Given the description of an element on the screen output the (x, y) to click on. 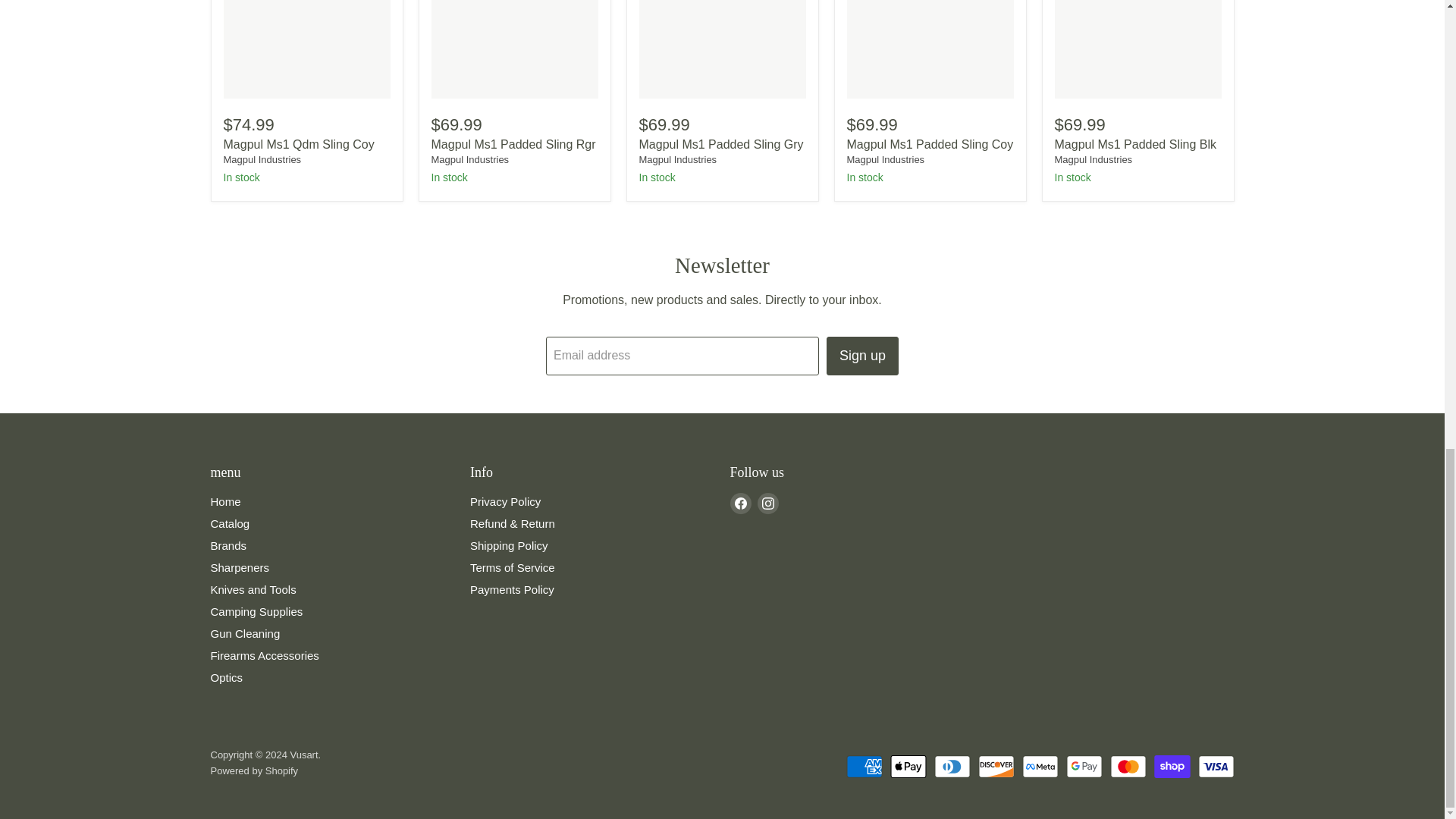
Instagram (767, 503)
Apple Pay (907, 766)
Magpul Industries (261, 159)
Mastercard (1128, 766)
American Express (863, 766)
Magpul Industries (677, 159)
Magpul Industries (1093, 159)
Magpul Industries (884, 159)
Google Pay (1083, 766)
Magpul Industries (469, 159)
Diners Club (952, 766)
Discover (996, 766)
Meta Pay (1040, 766)
Facebook (740, 503)
Shop Pay (1172, 766)
